Given the description of an element on the screen output the (x, y) to click on. 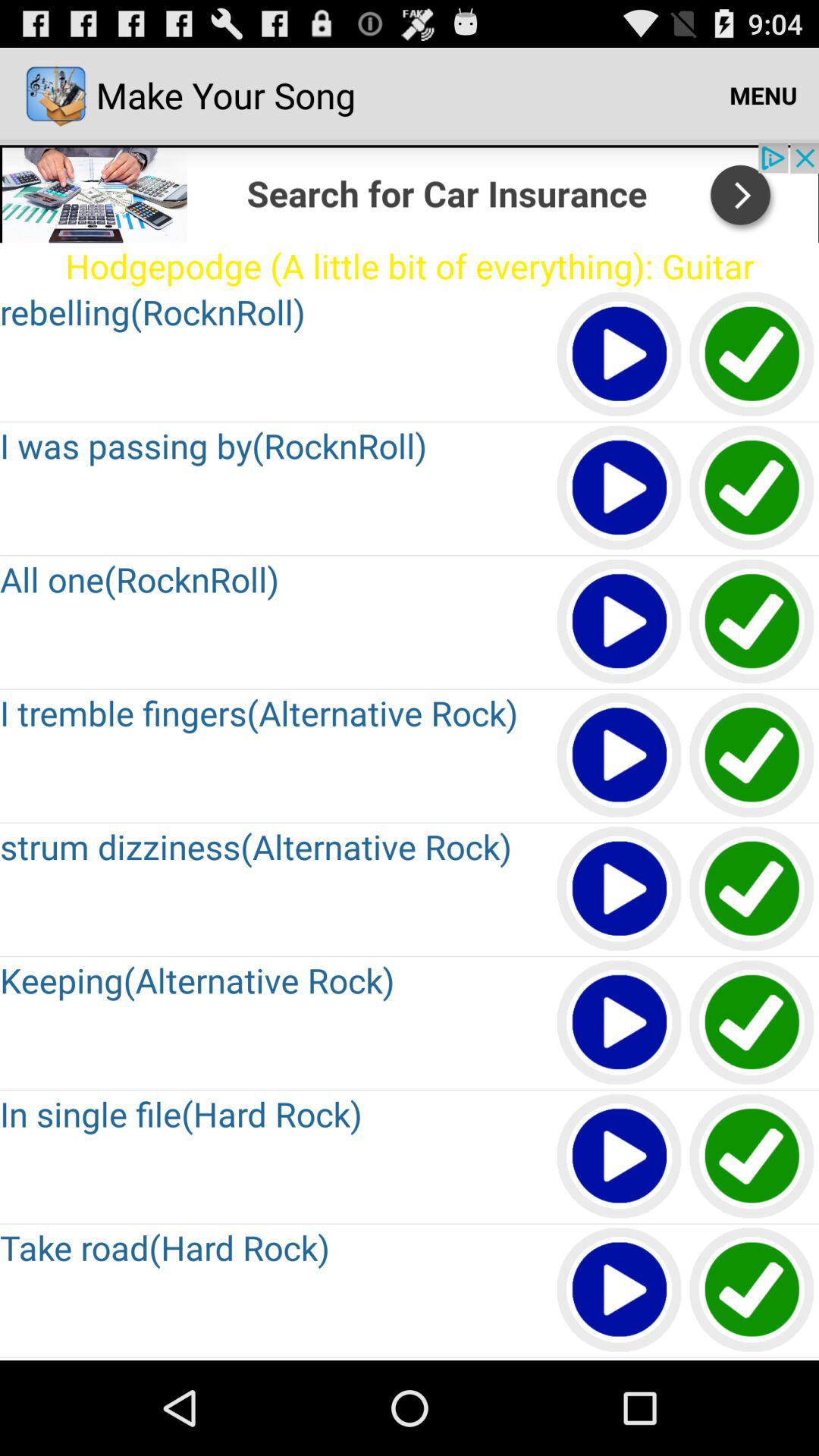
play (619, 1290)
